Given the description of an element on the screen output the (x, y) to click on. 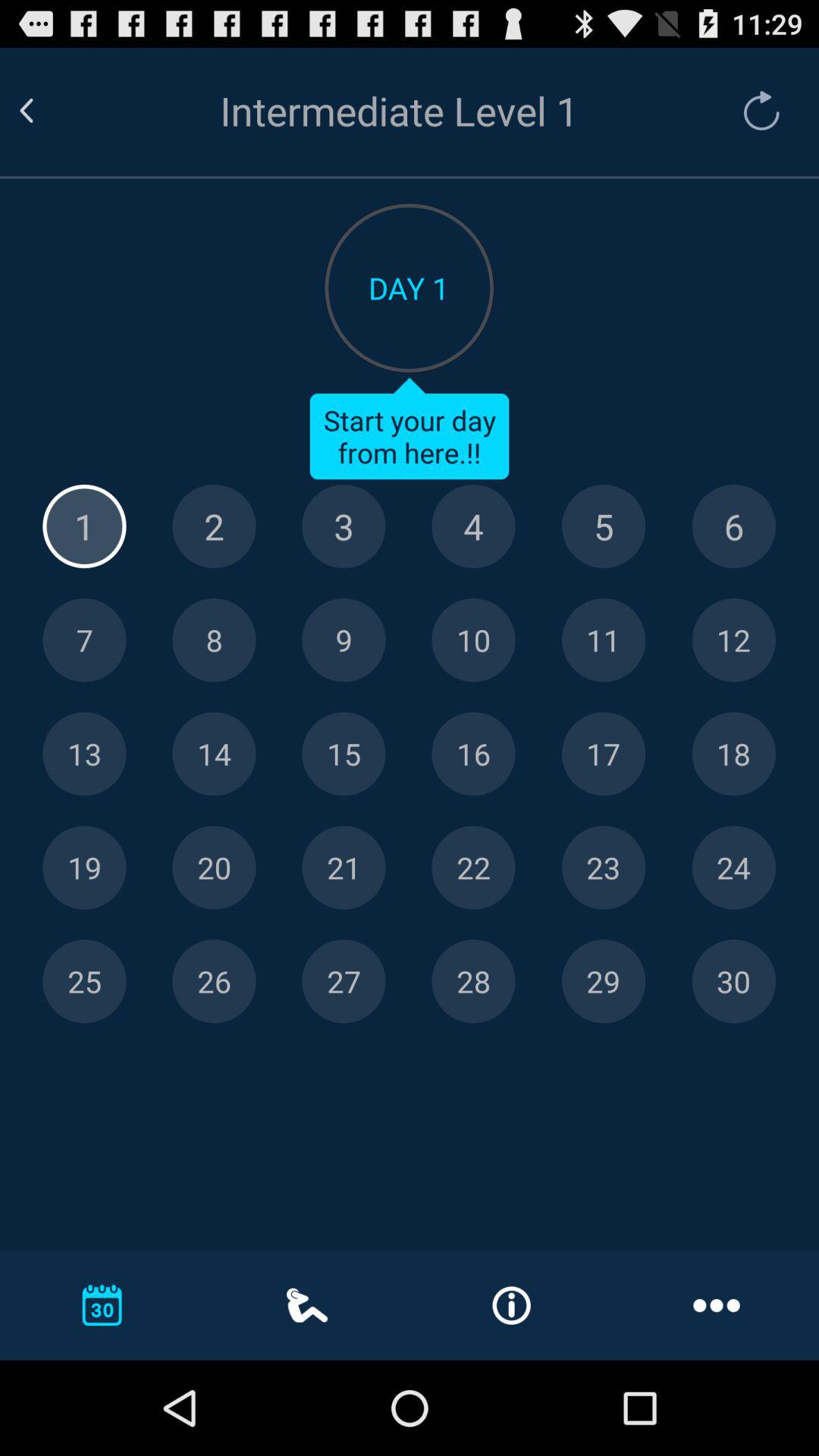
select day 9 (343, 639)
